Given the description of an element on the screen output the (x, y) to click on. 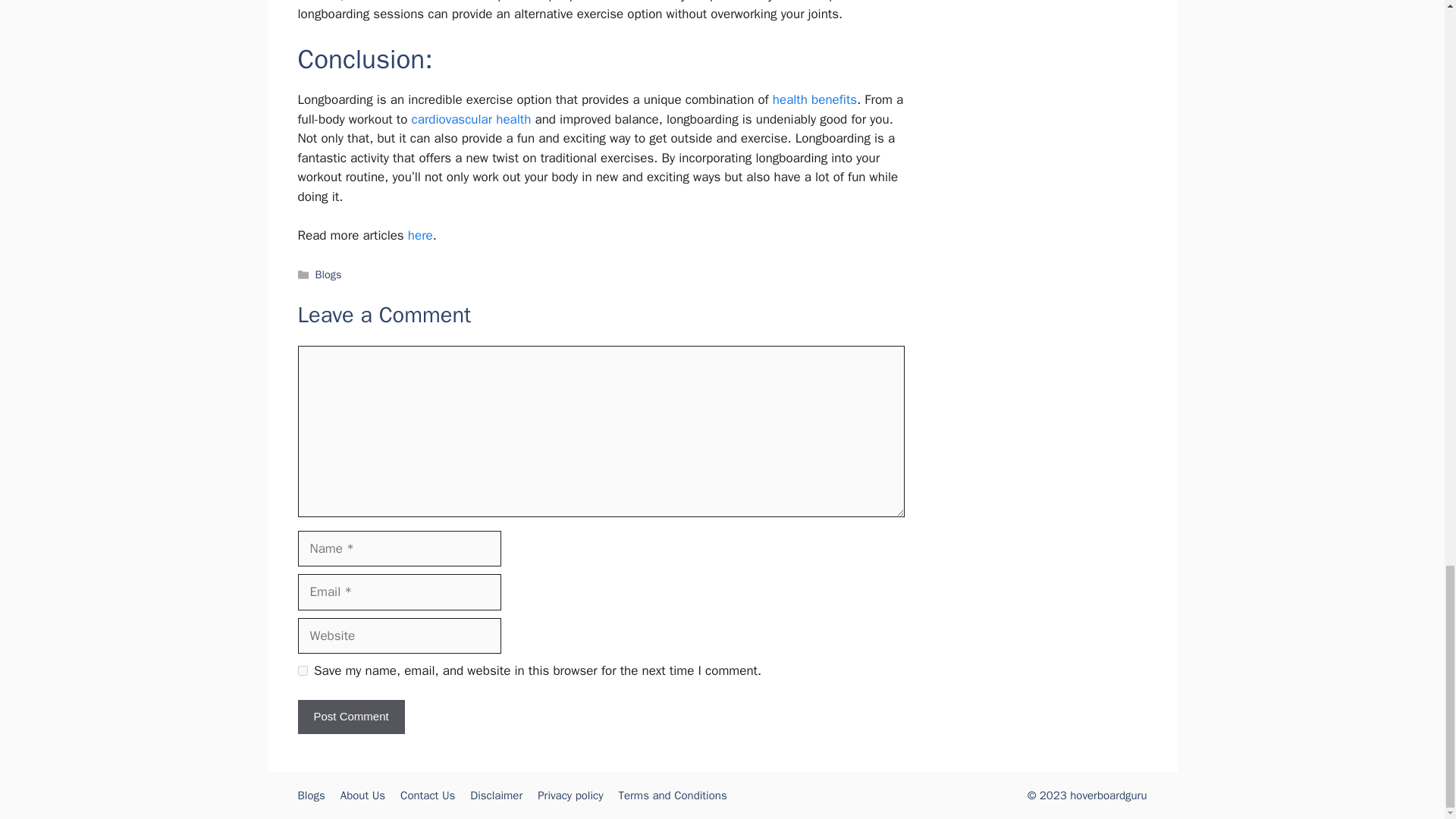
Blogs (328, 274)
cardiovascular health (471, 119)
Post Comment (350, 716)
Blogs (310, 795)
yes (302, 670)
Privacy policy (569, 795)
health benefits (815, 99)
Post Comment (350, 716)
Disclaimer (496, 795)
About Us (362, 795)
